Given the description of an element on the screen output the (x, y) to click on. 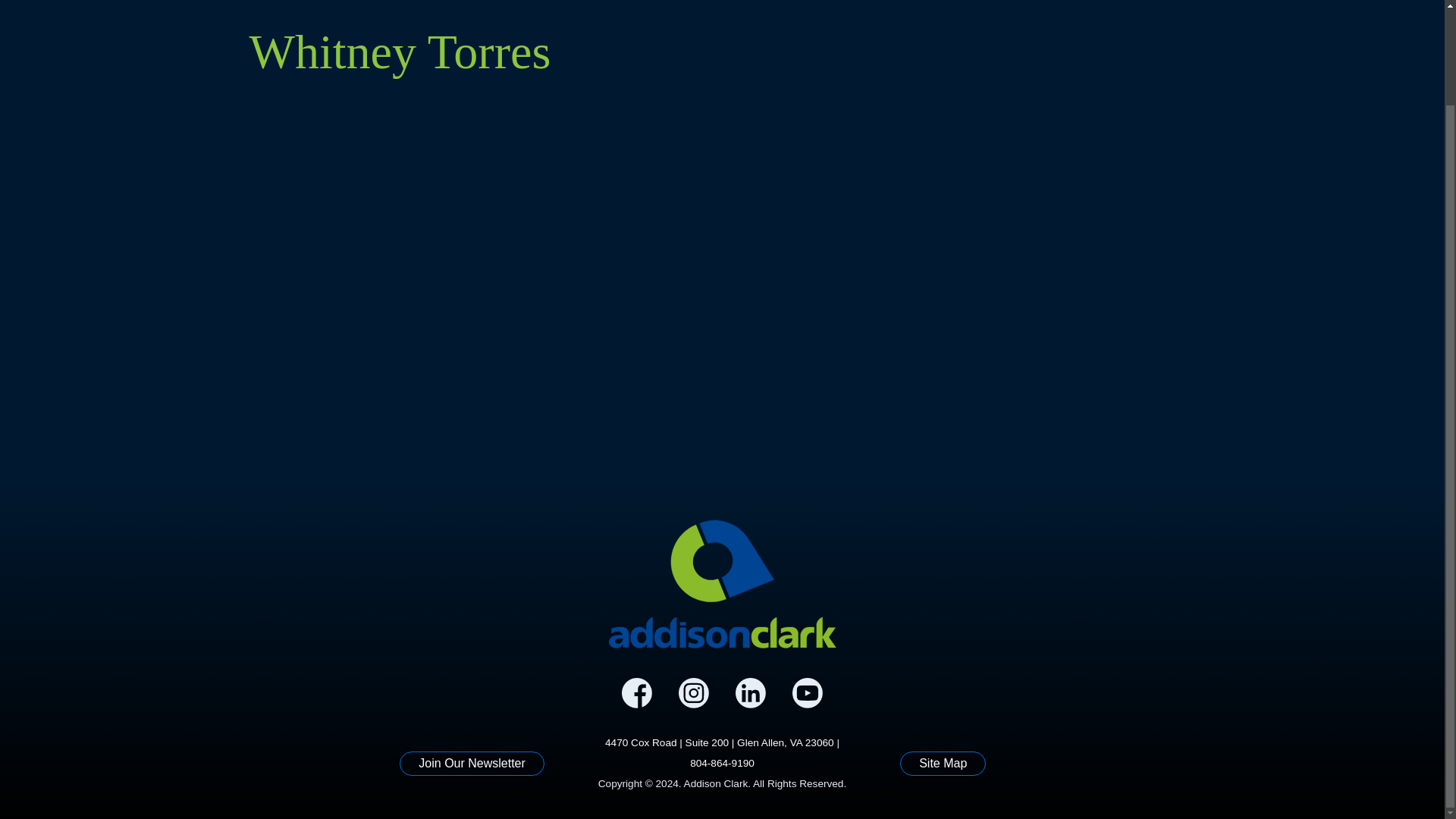
Visit us on LinkedIn (750, 693)
Site Map (942, 763)
Visit us on Facebook (636, 693)
Visit us on Instagram (693, 693)
Visit us on YouTube (806, 693)
Newsletter Sign-Up (471, 763)
Hompage (721, 584)
Site Map (942, 763)
Call now (722, 762)
Get directions (719, 742)
